Given the description of an element on the screen output the (x, y) to click on. 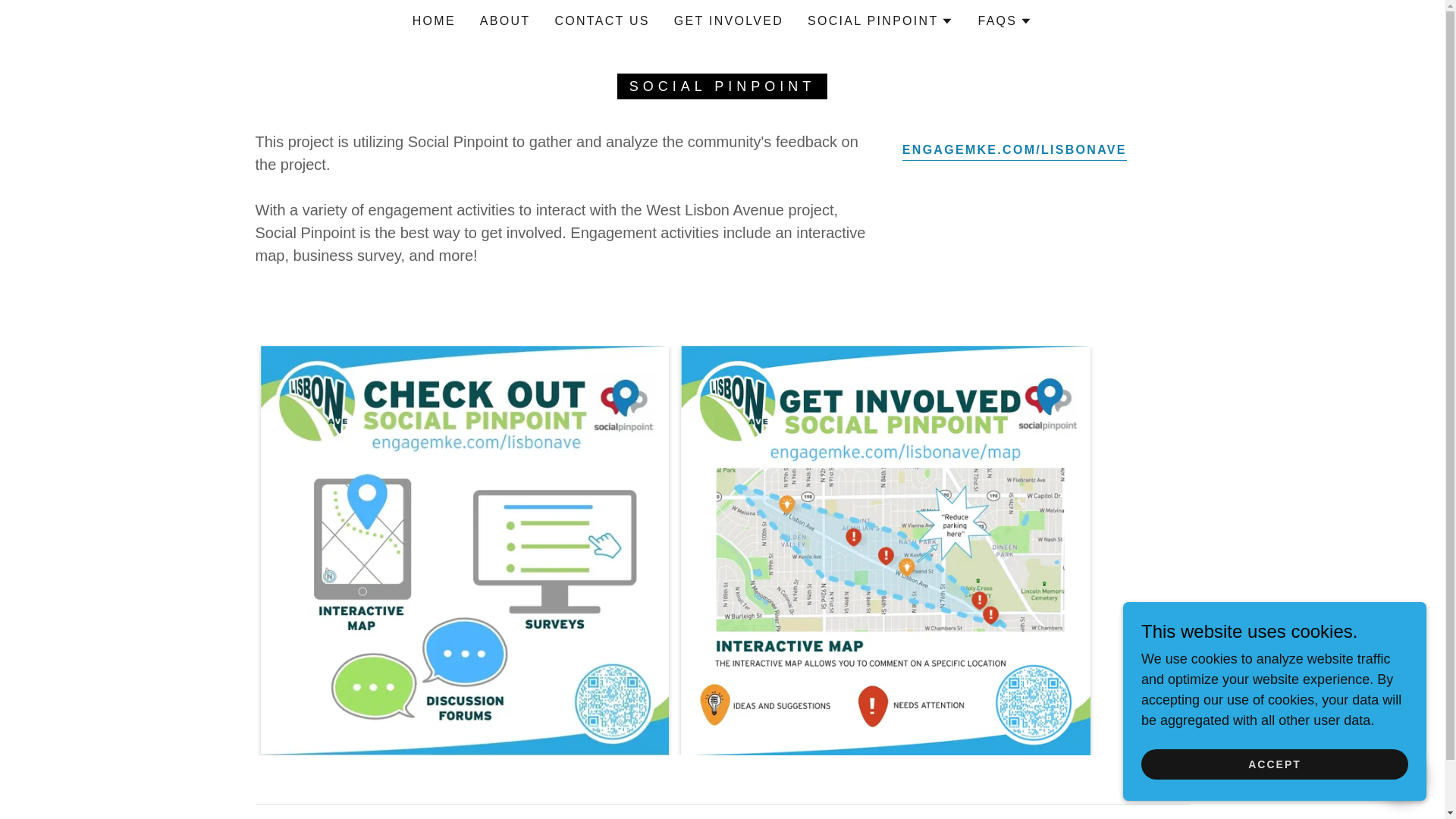
HOME (433, 21)
SOCIAL PINPOINT (880, 21)
ABOUT (505, 21)
GET INVOLVED (728, 21)
CONTACT US (601, 21)
FAQS (1004, 21)
